Given the description of an element on the screen output the (x, y) to click on. 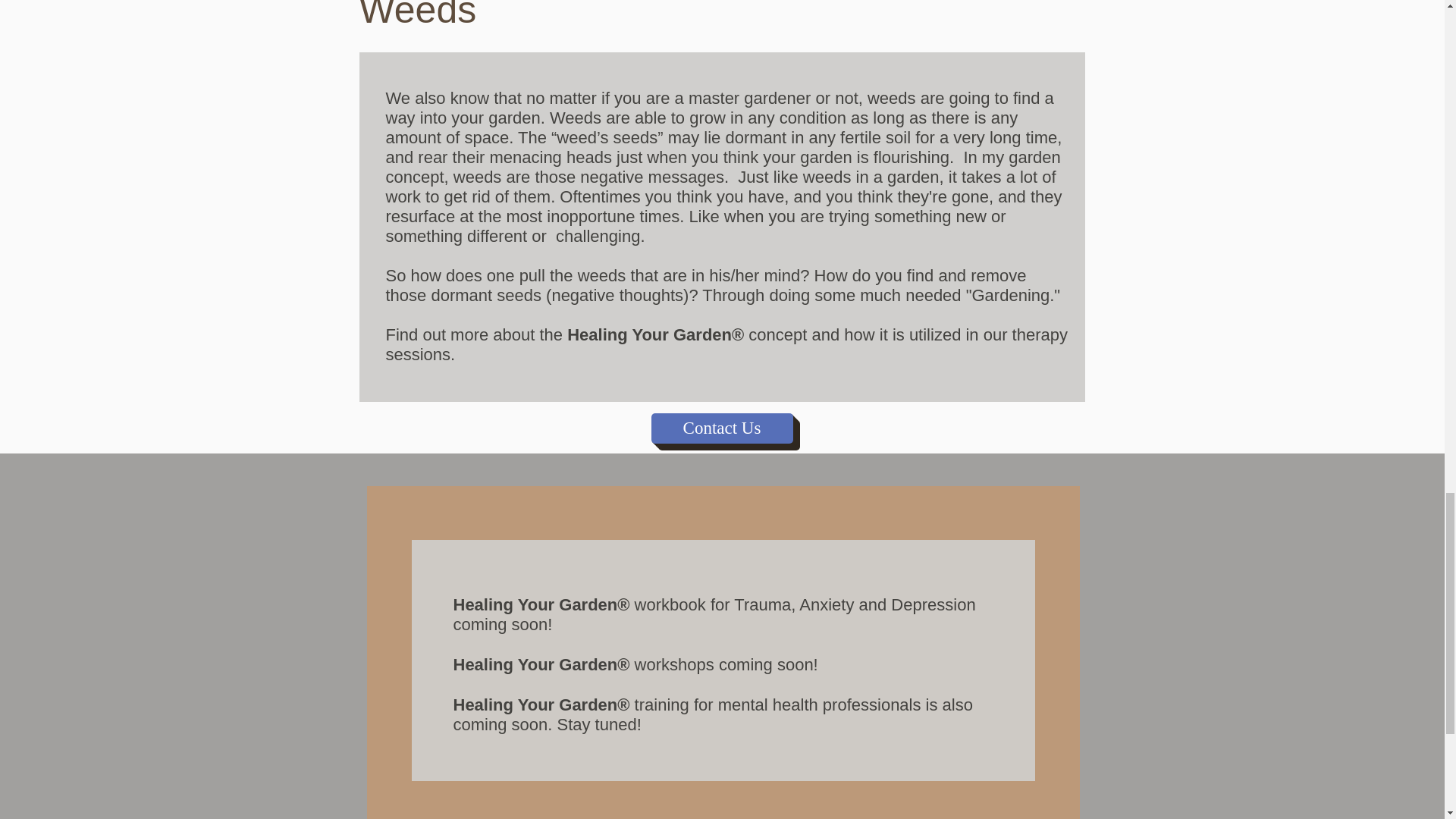
Contact Us (721, 428)
